Given the description of an element on the screen output the (x, y) to click on. 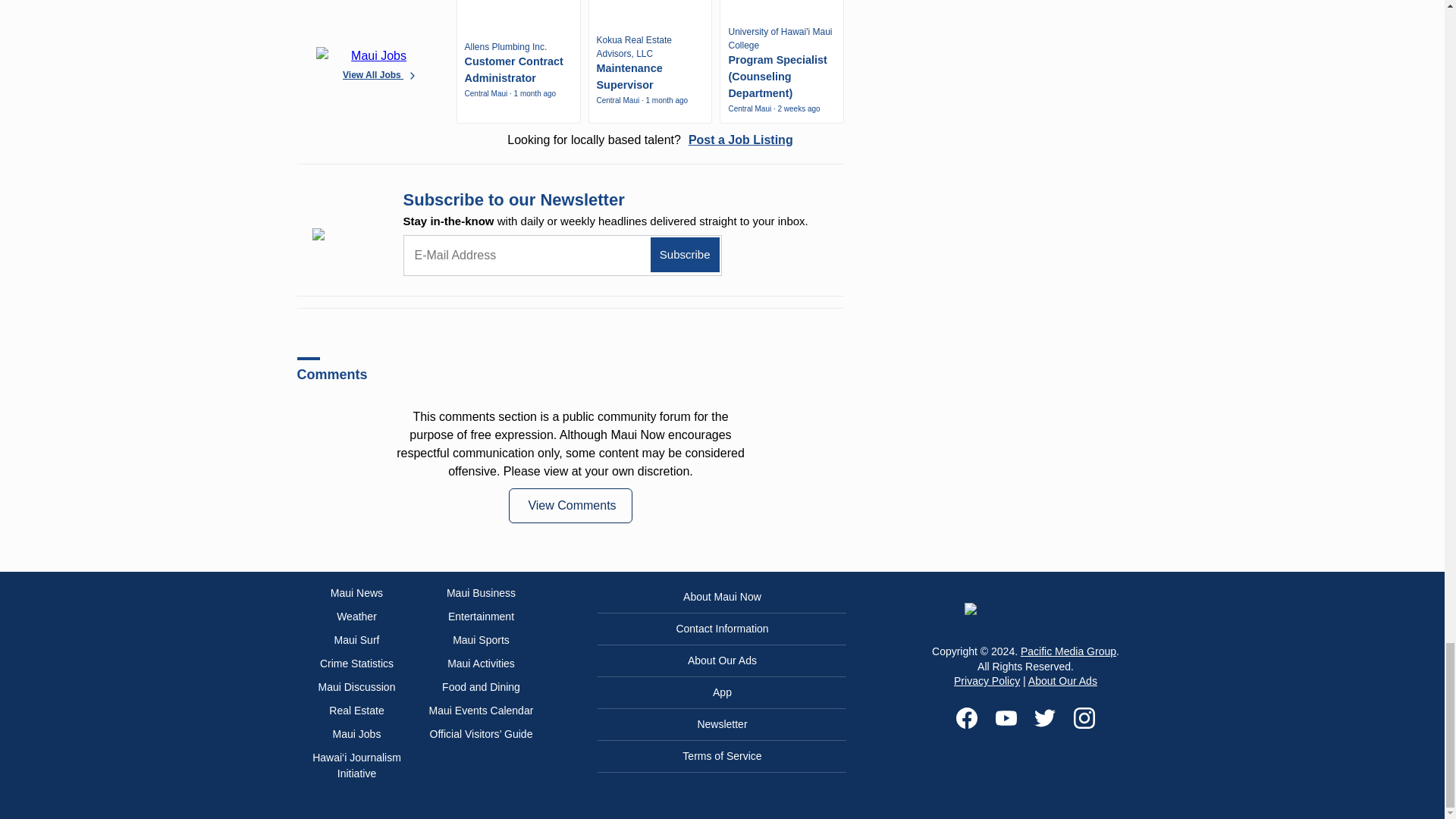
Facebook (966, 717)
Instagram (1084, 717)
Subscribe (684, 254)
Chevron Forward (412, 75)
YouTube (1005, 717)
Twitter (1044, 717)
